Given the description of an element on the screen output the (x, y) to click on. 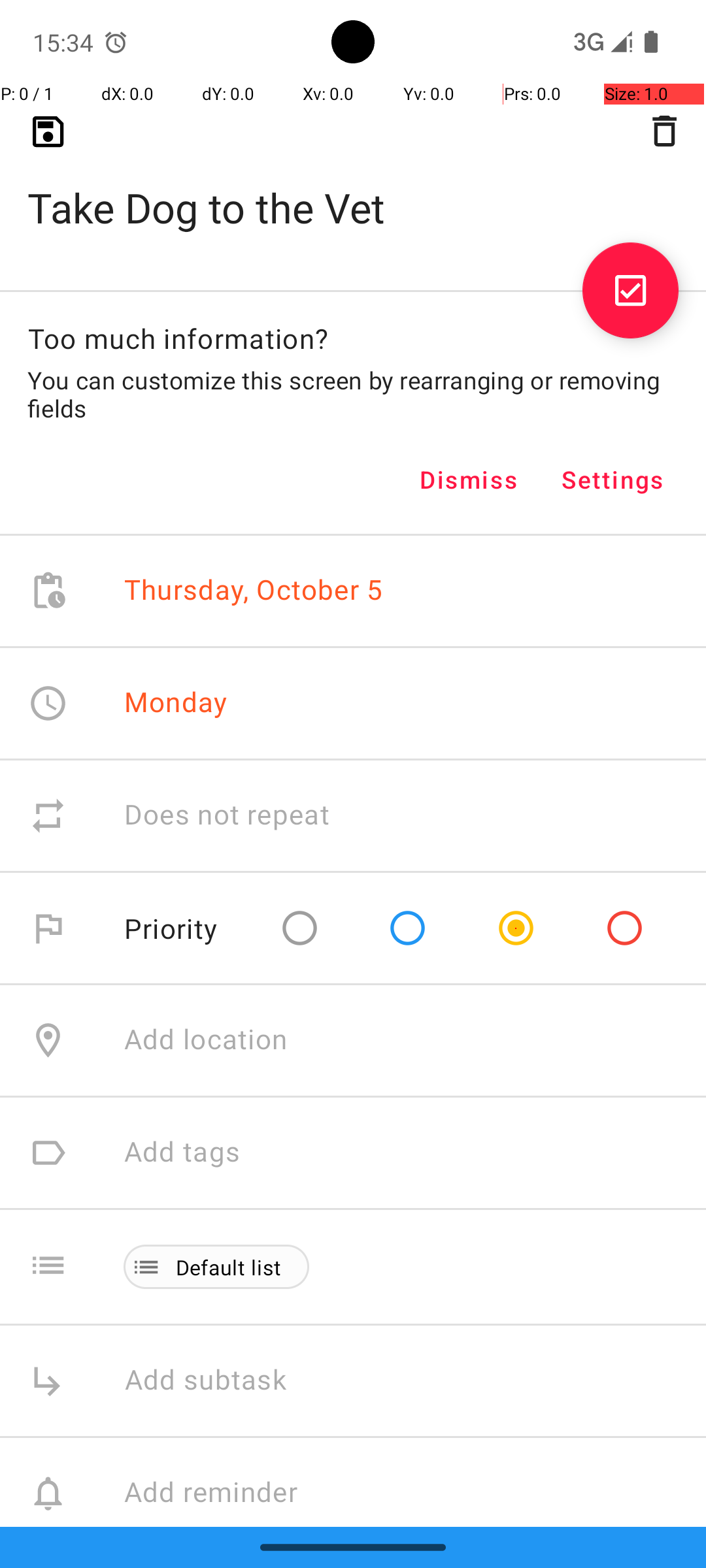
Thursday, October 5 Element type: android.widget.TextView (253, 590)
